Given the description of an element on the screen output the (x, y) to click on. 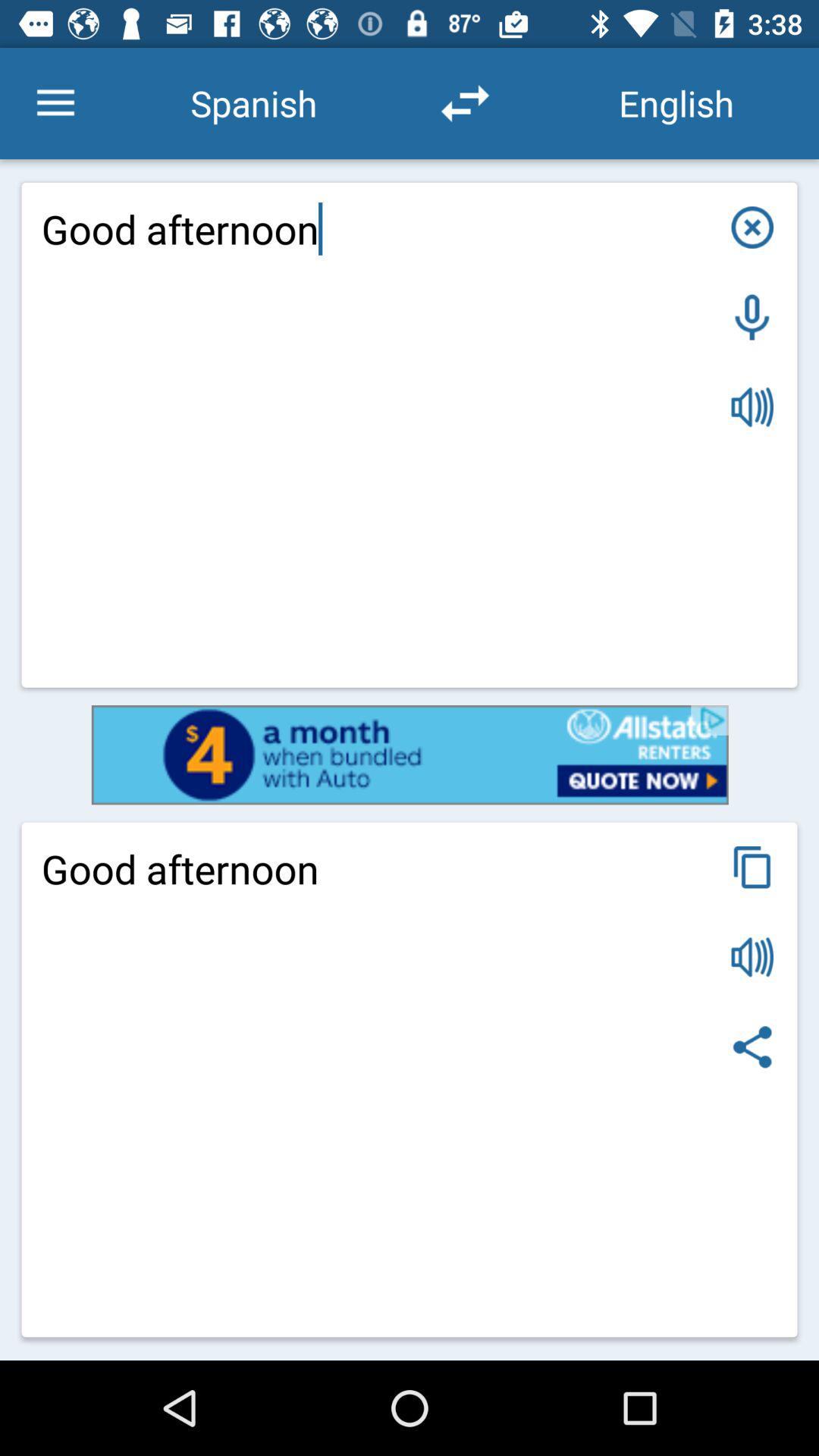
go to mike (752, 317)
